Given the description of an element on the screen output the (x, y) to click on. 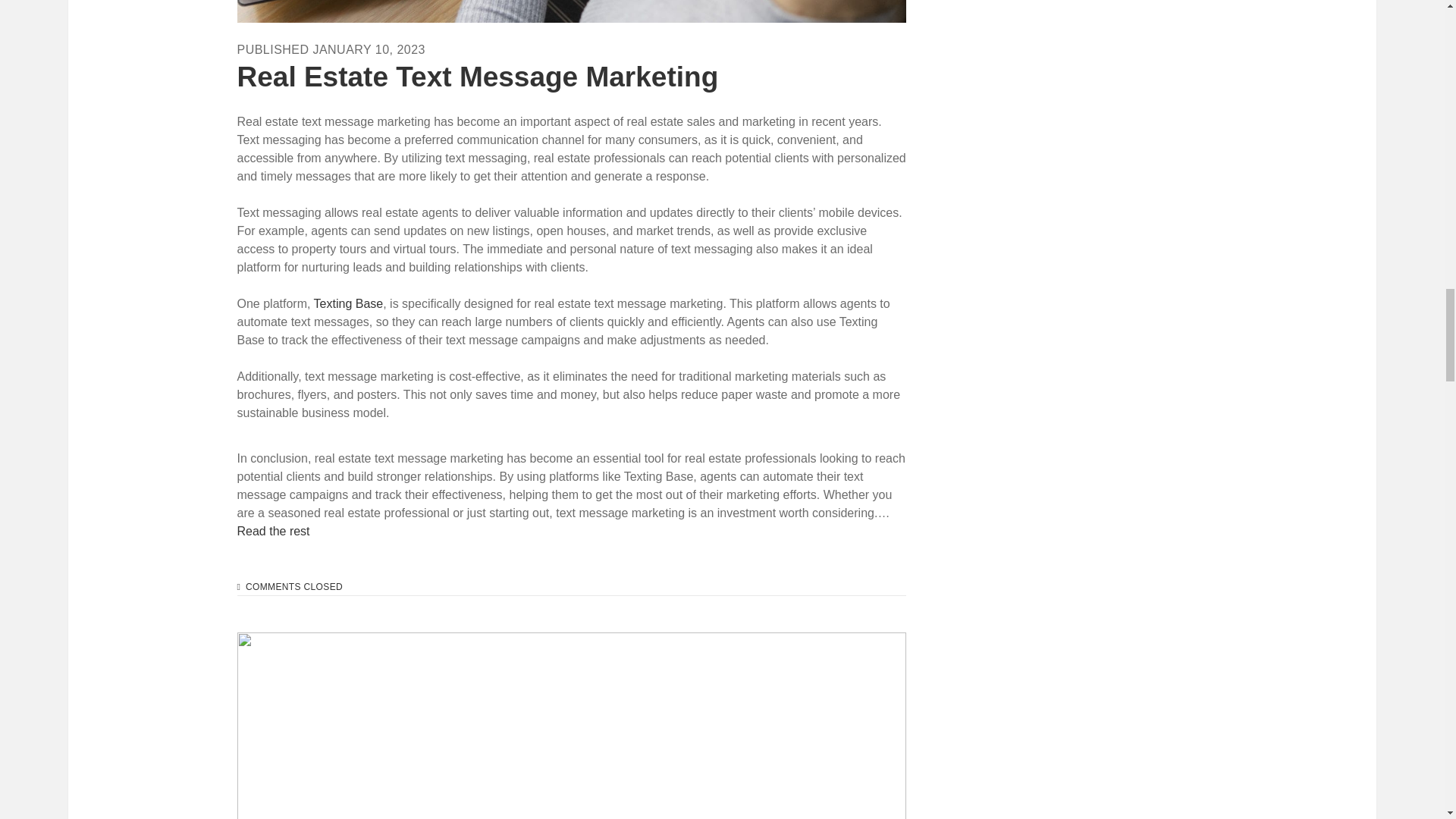
Real Estate Text Message Marketing (476, 75)
Understanding How Fiduciary Relationships Work (570, 725)
Real Estate Text Message Marketing (570, 11)
Texting Base (349, 303)
comment icon (237, 586)
Read the rest (271, 530)
